Given the description of an element on the screen output the (x, y) to click on. 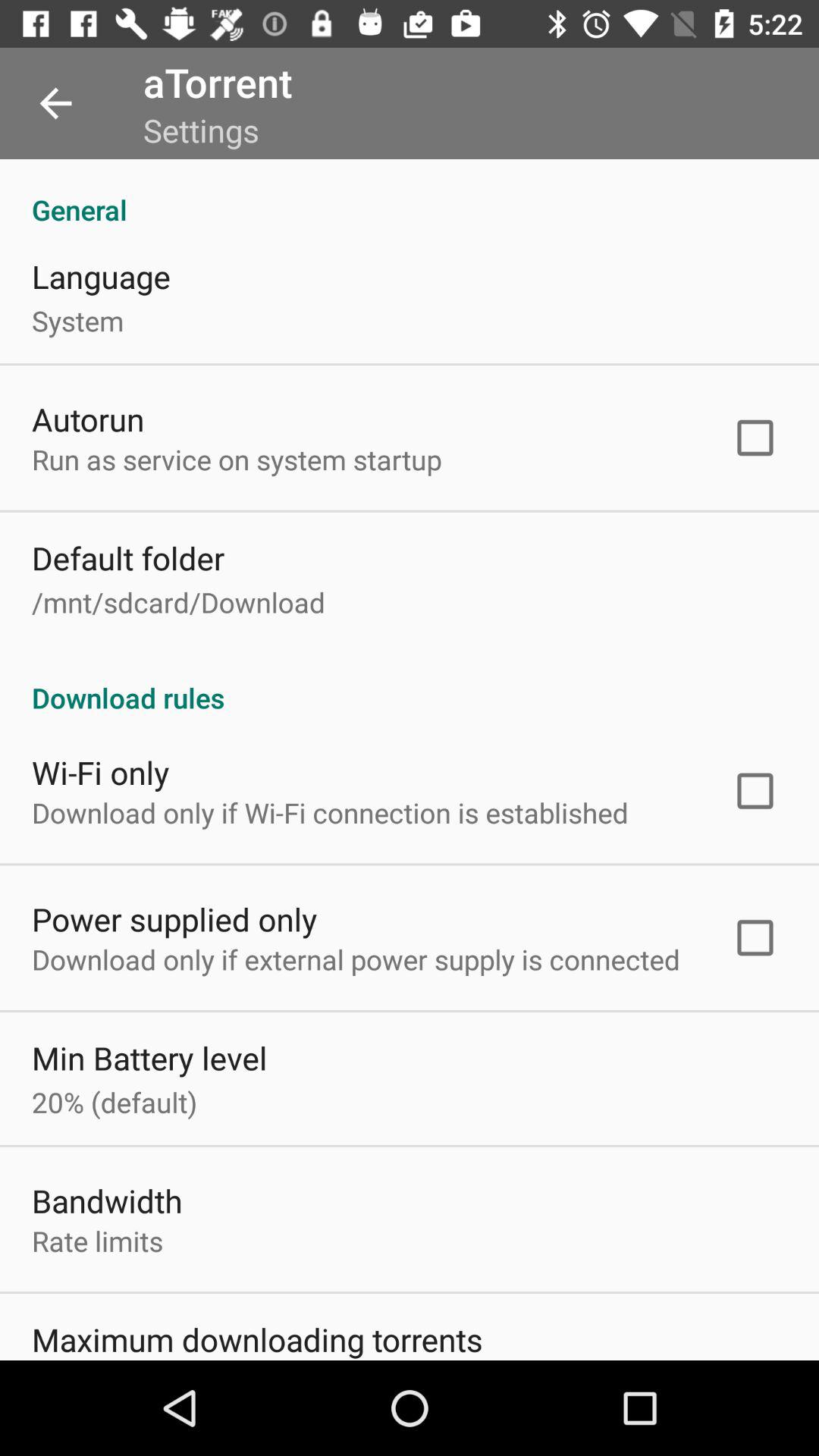
press the general (409, 193)
